Given the description of an element on the screen output the (x, y) to click on. 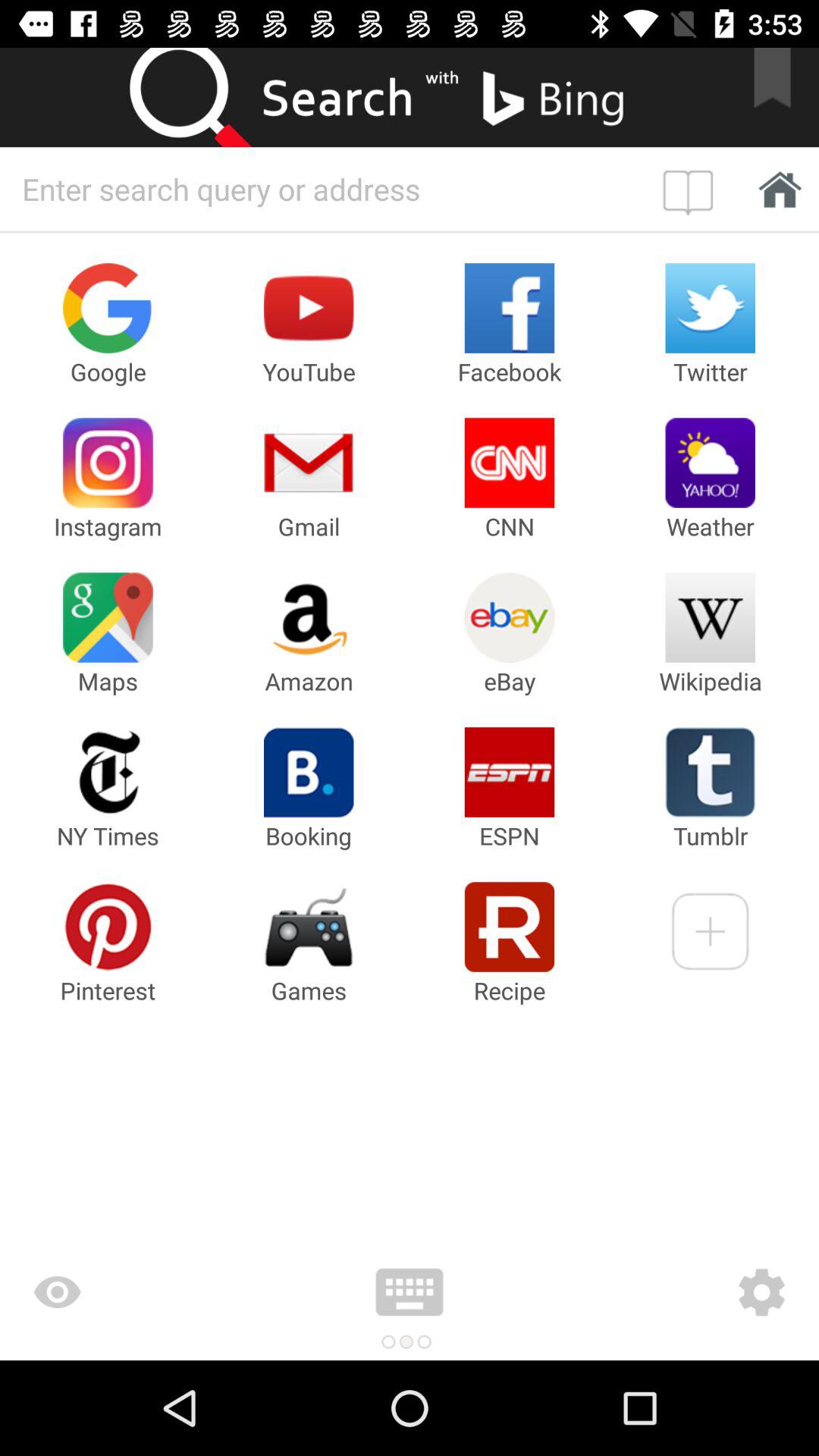
search for something (327, 189)
